Given the description of an element on the screen output the (x, y) to click on. 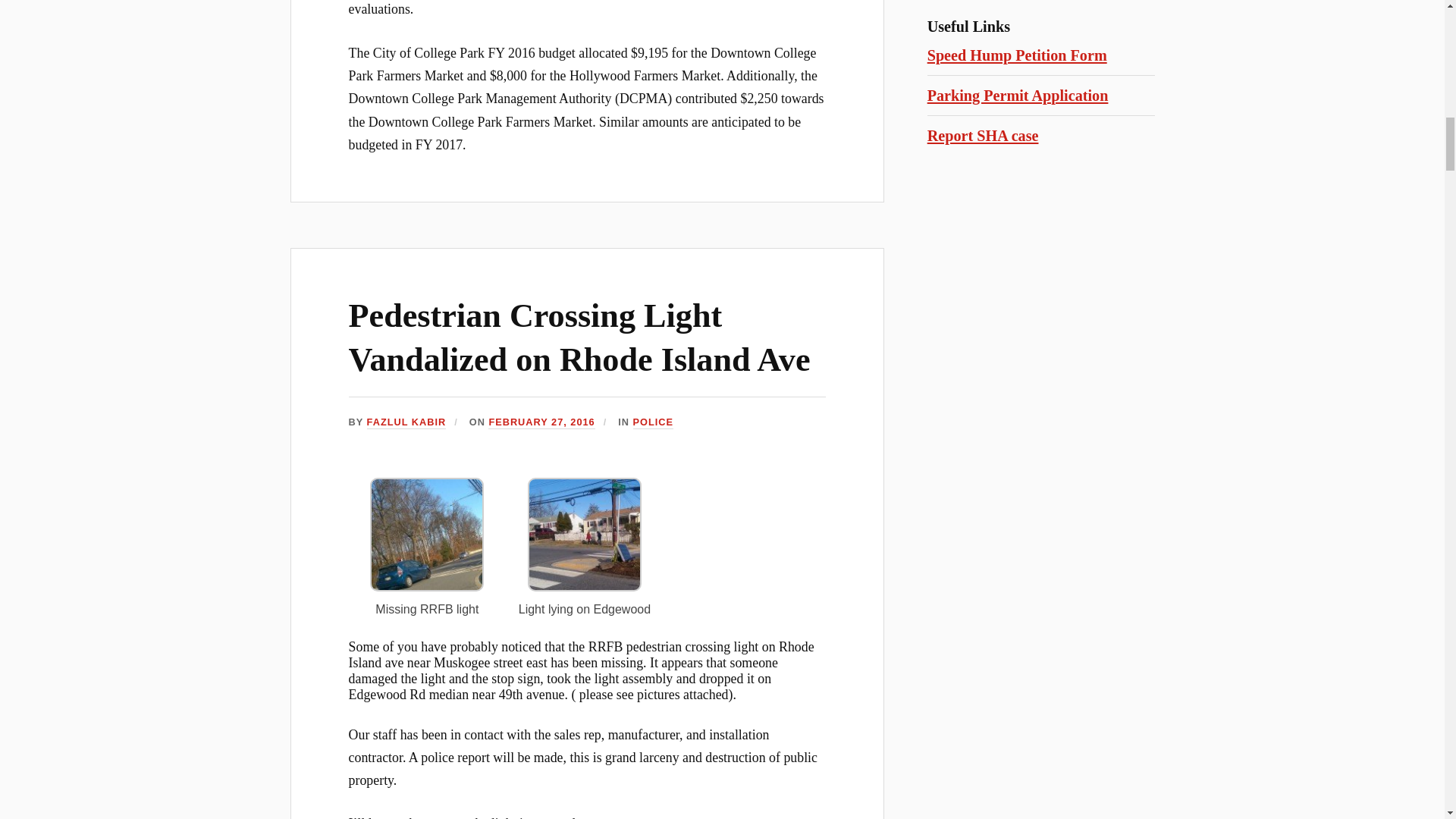
FAZLUL KABIR (406, 422)
Posts by Fazlul Kabir (406, 422)
POLICE (652, 422)
FEBRUARY 27, 2016 (540, 422)
Pedestrian Crossing Light Vandalized on Rhode Island Ave (579, 337)
